Given the description of an element on the screen output the (x, y) to click on. 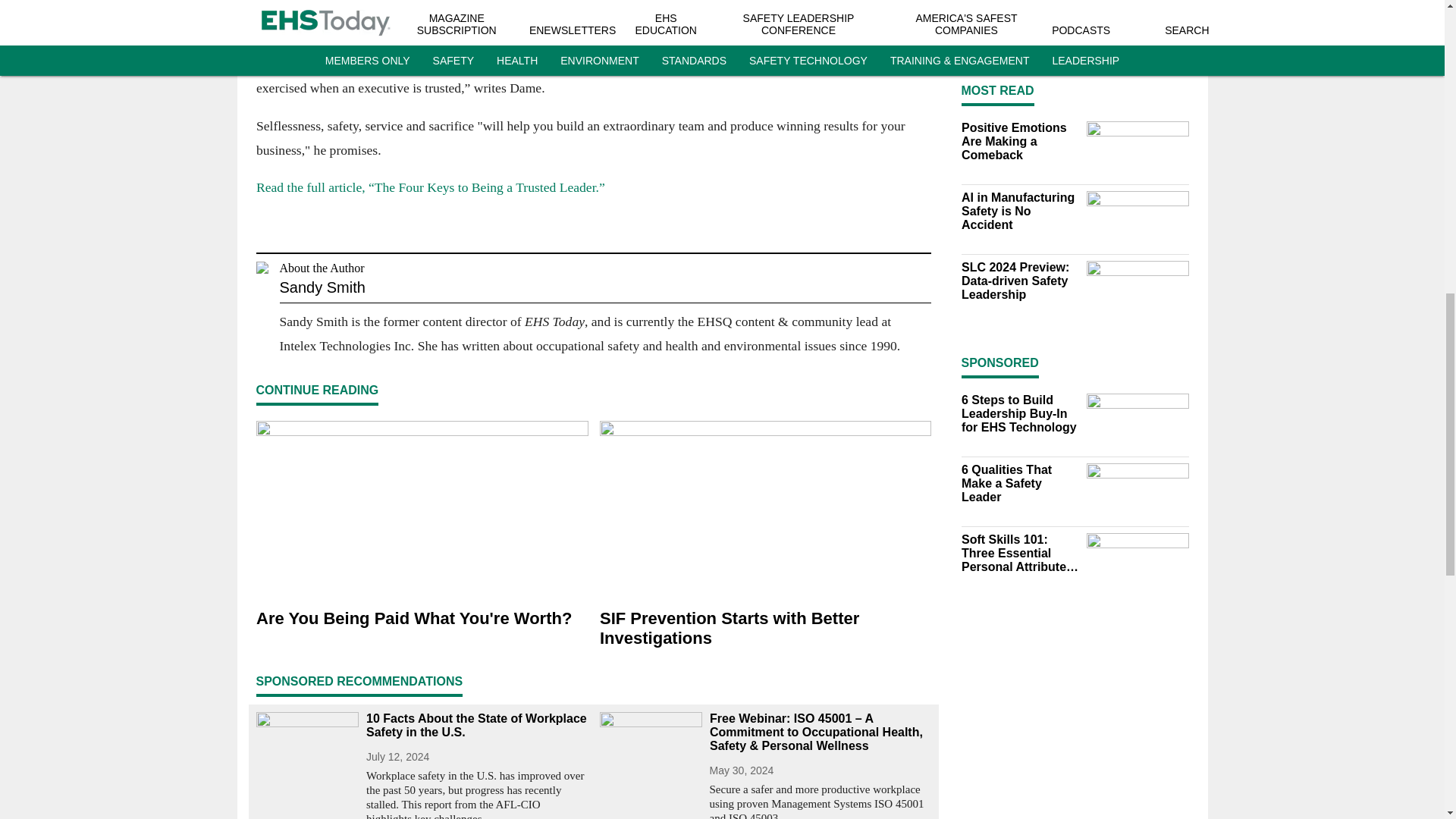
HBR Blog Network (631, 4)
10 Facts About the State of Workplace Safety in the U.S. (476, 725)
SIF Prevention Starts with Better Investigations (764, 629)
Are You Being Paid What You're Worth? (422, 619)
